Given the description of an element on the screen output the (x, y) to click on. 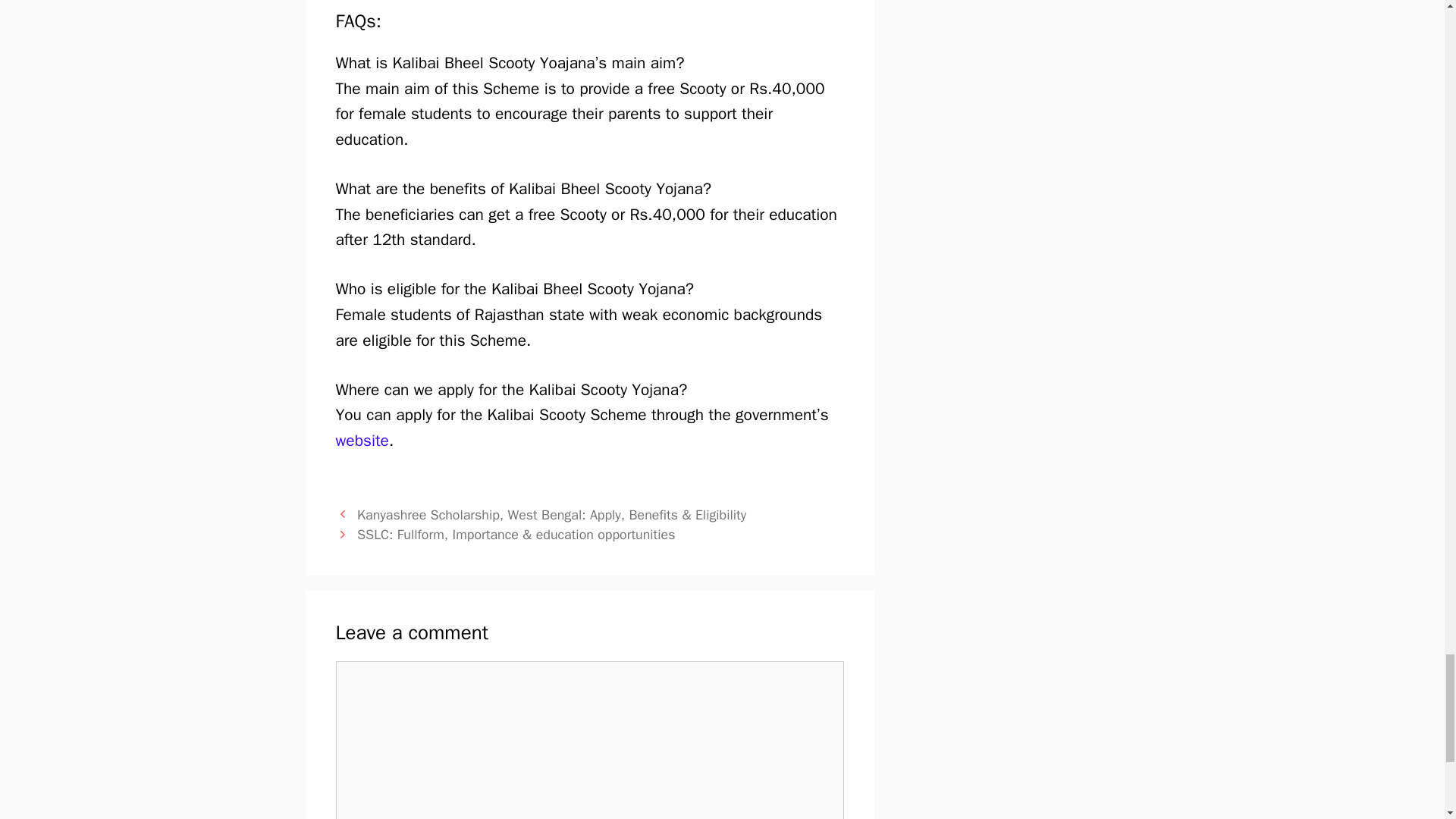
website (361, 440)
